Given the description of an element on the screen output the (x, y) to click on. 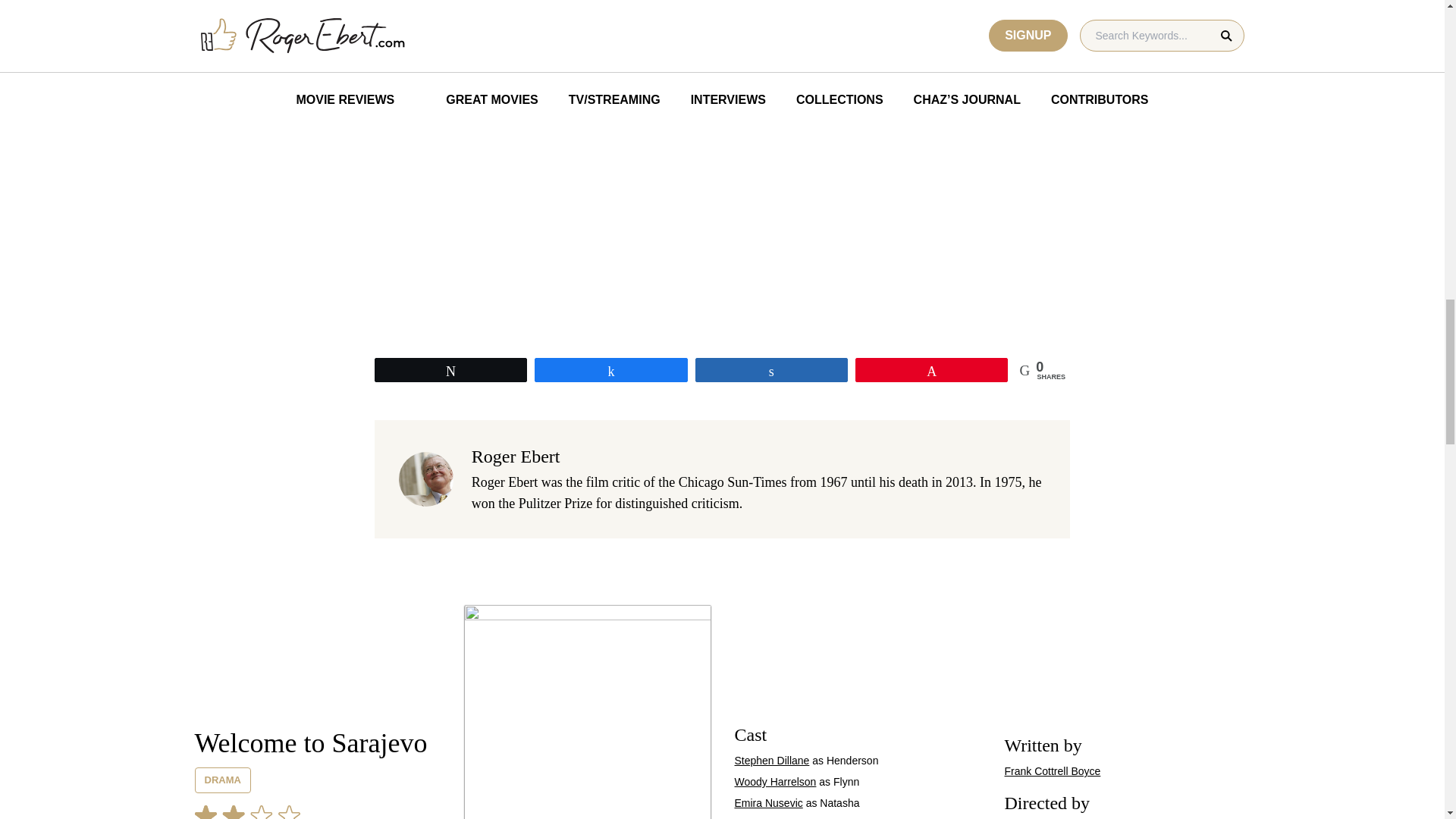
Roger Ebert (515, 456)
Emira Nusevic (767, 802)
DRAMA (221, 780)
Frank Cottrell Boyce (1052, 770)
Stephen Dillane (771, 760)
Marisa Tomei (764, 818)
Woody Harrelson (774, 781)
